Given the description of an element on the screen output the (x, y) to click on. 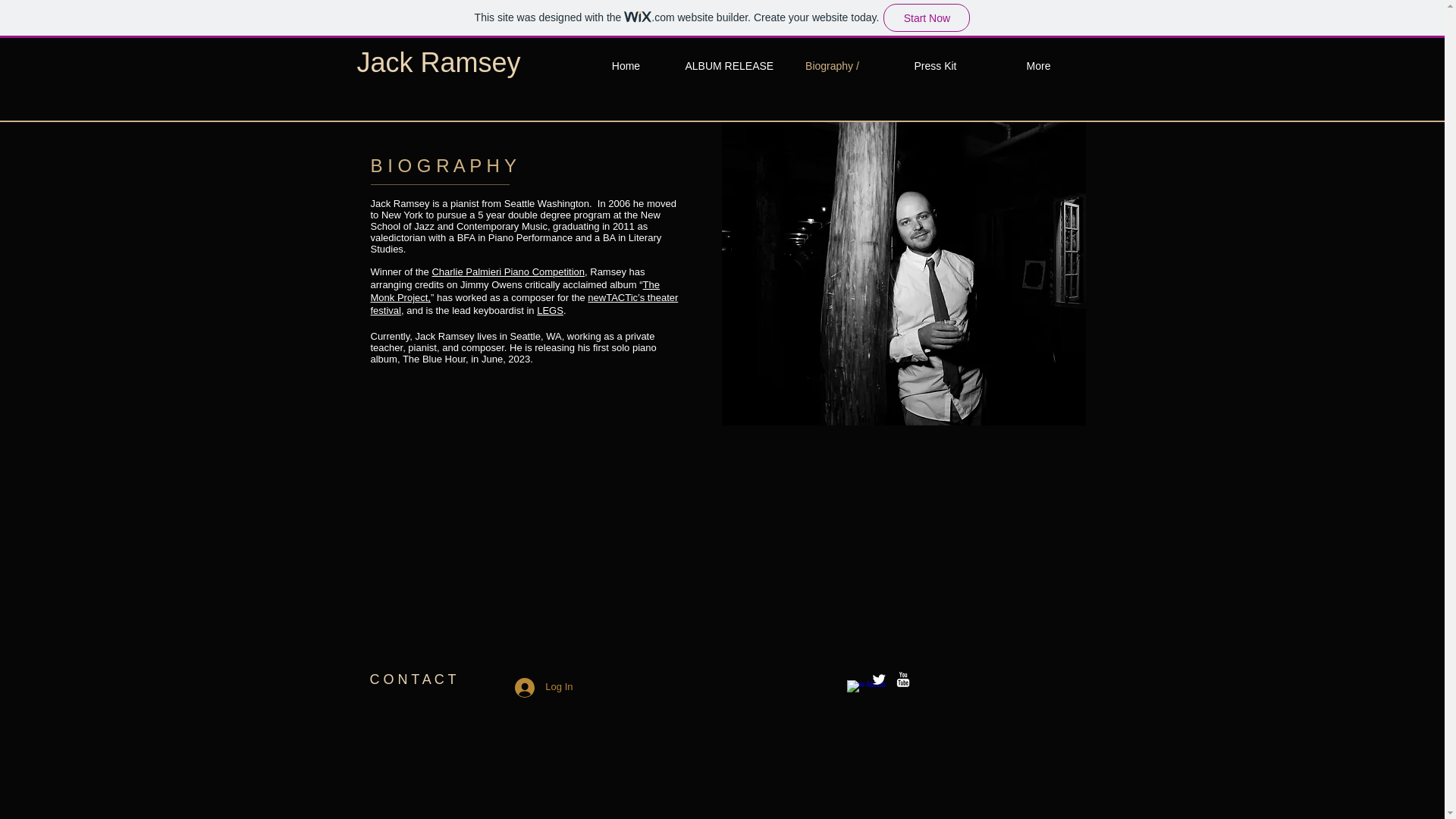
Log In (543, 687)
Home (626, 65)
Charlie Palmieri Piano Competition (507, 271)
Press Kit (935, 65)
ALBUM RELEASE (729, 65)
The Monk Project, (514, 291)
C O N T A C T (413, 679)
LEGS (550, 310)
